Given the description of an element on the screen output the (x, y) to click on. 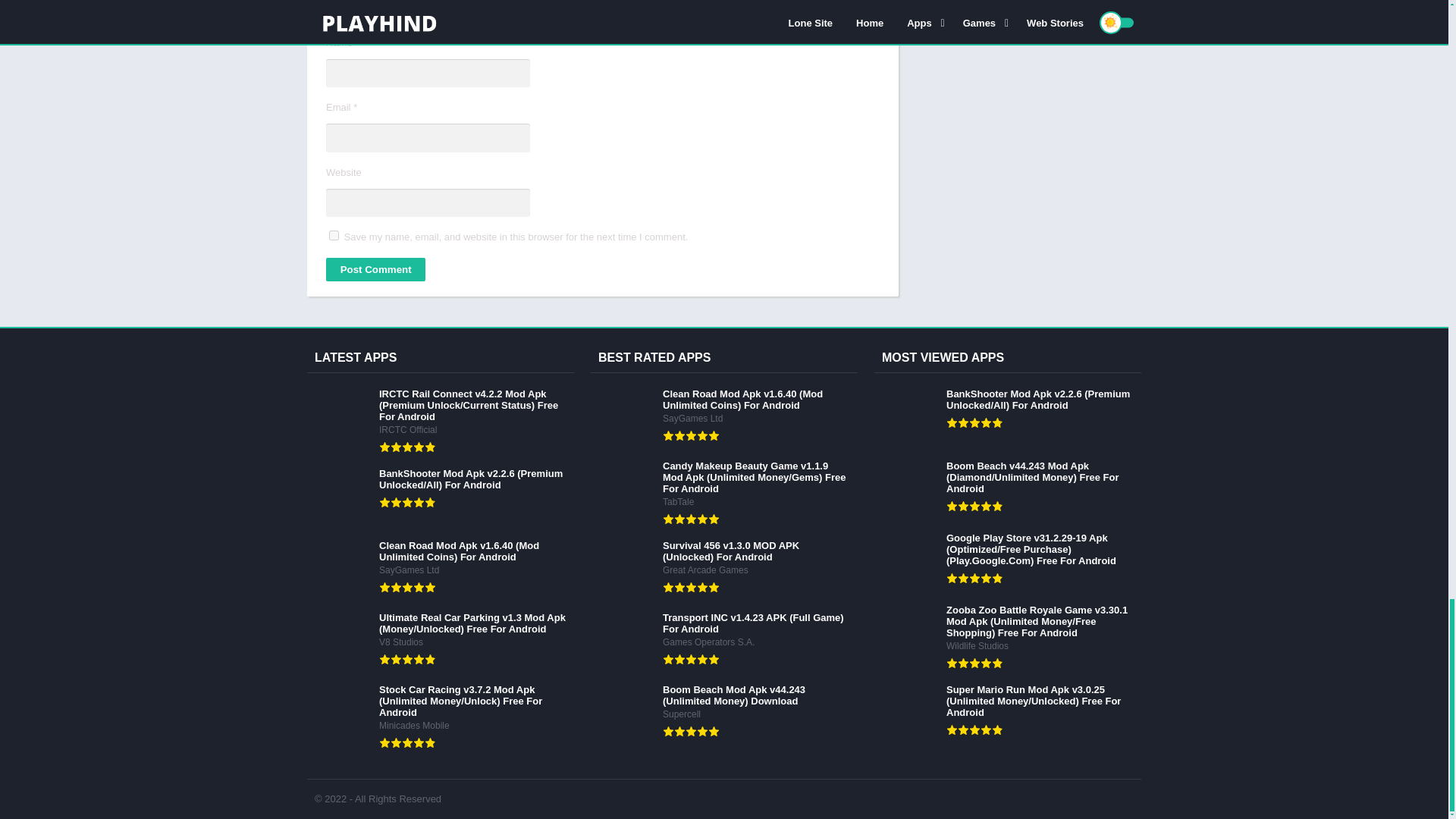
yes (334, 235)
Post Comment (375, 269)
